Given the description of an element on the screen output the (x, y) to click on. 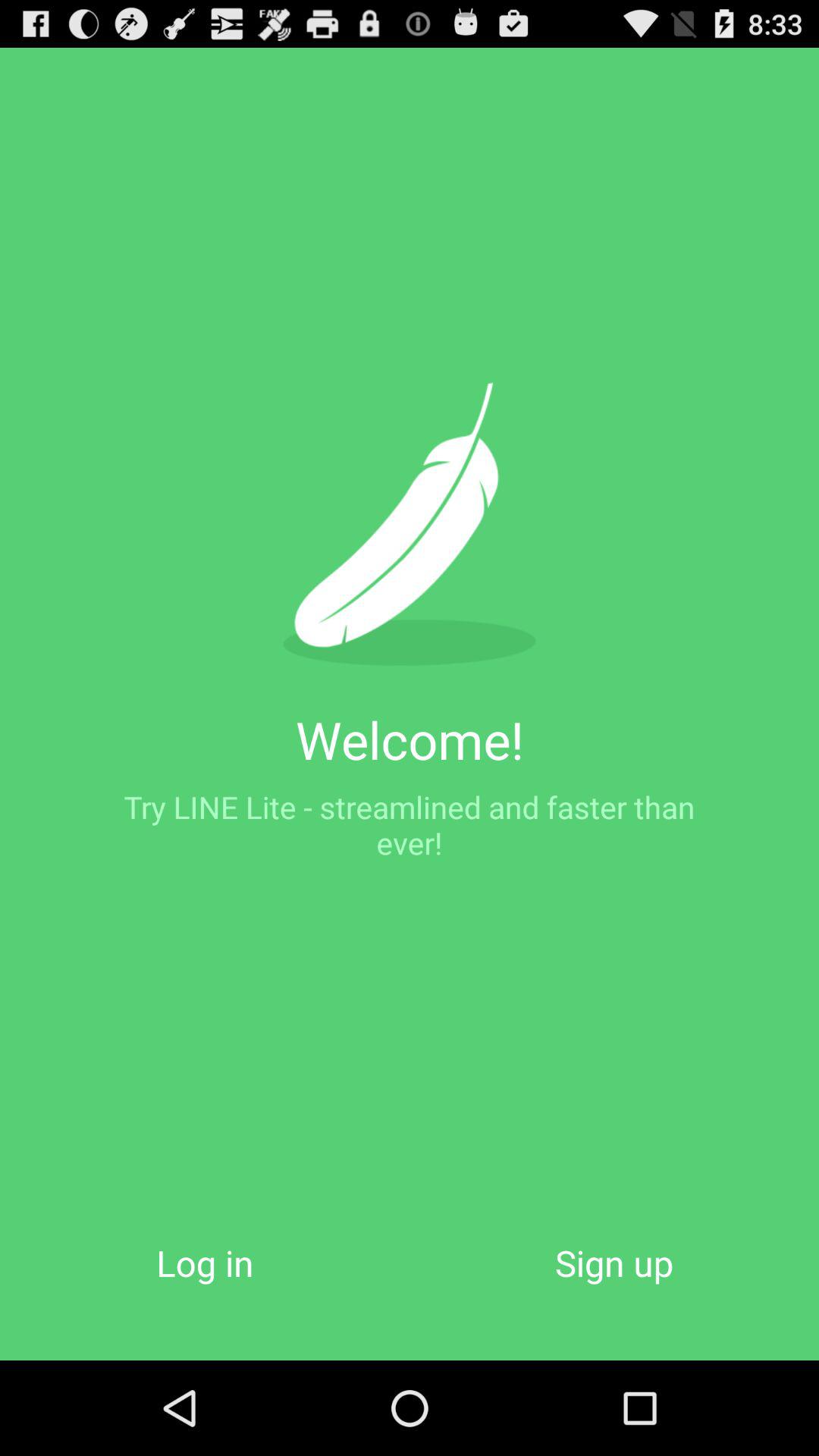
choose the icon next to sign up item (204, 1262)
